Given the description of an element on the screen output the (x, y) to click on. 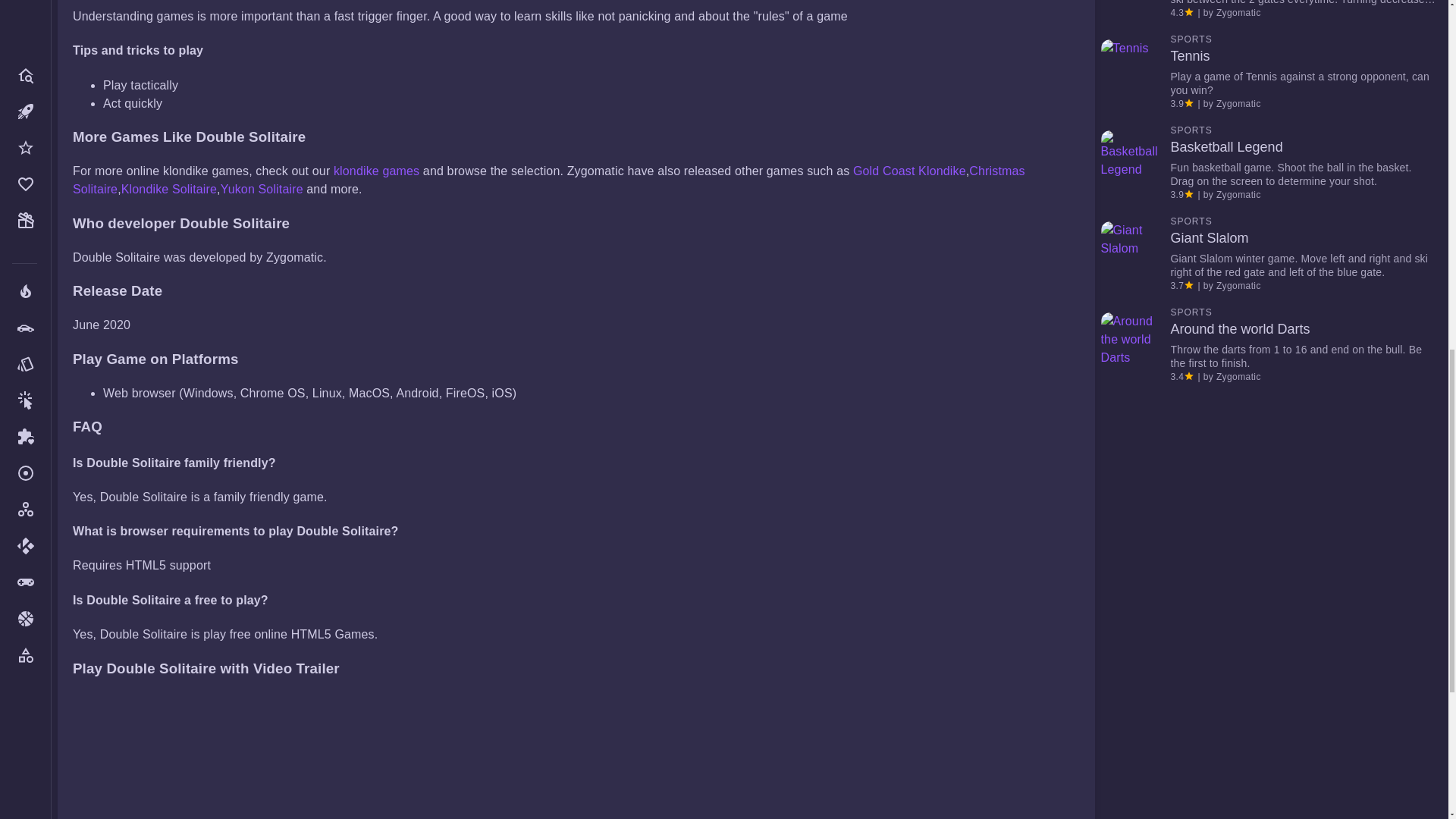
Yukon Solitaire (261, 188)
Christmas Solitaire (548, 179)
klondike games (376, 170)
Double Solitaire (284, 756)
Klondike Solitaire (168, 188)
Gold Coast Klondike (909, 170)
